Given the description of an element on the screen output the (x, y) to click on. 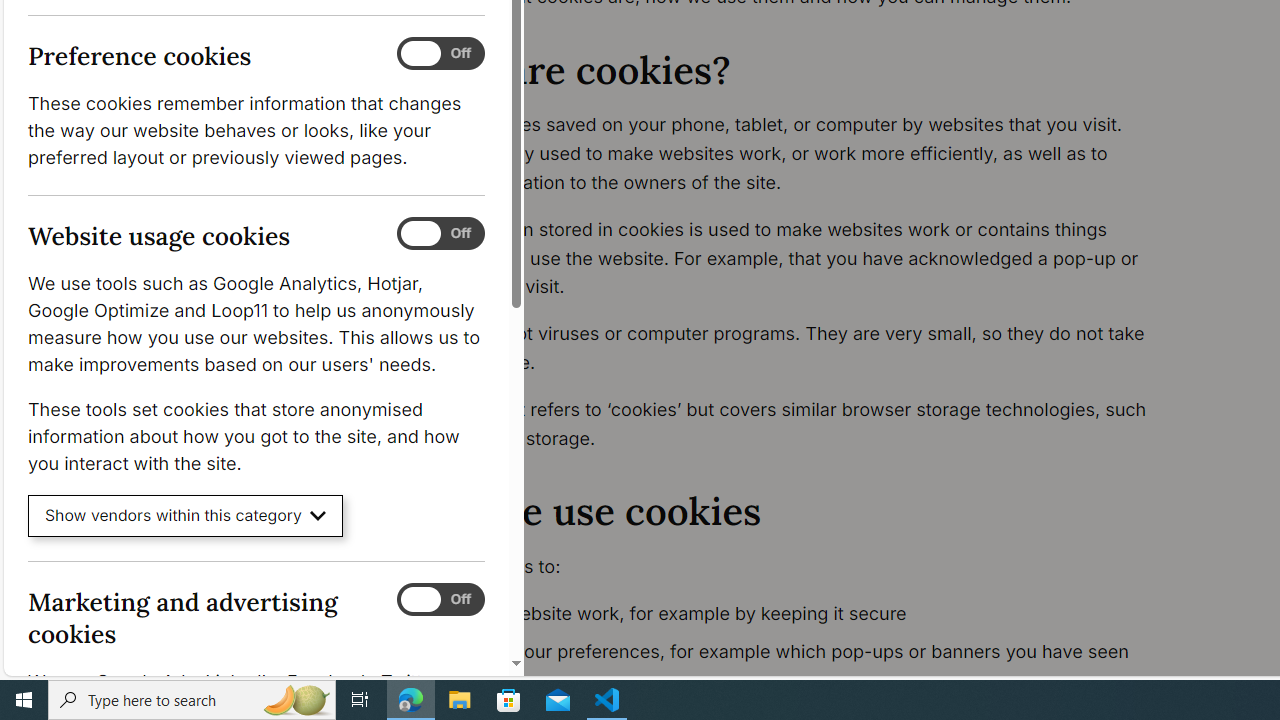
Website usage cookies (440, 233)
Preference cookies (440, 53)
Marketing and advertising cookies (440, 599)
make our website work, for example by keeping it secure (796, 614)
Show vendors within this category (185, 516)
